Given the description of an element on the screen output the (x, y) to click on. 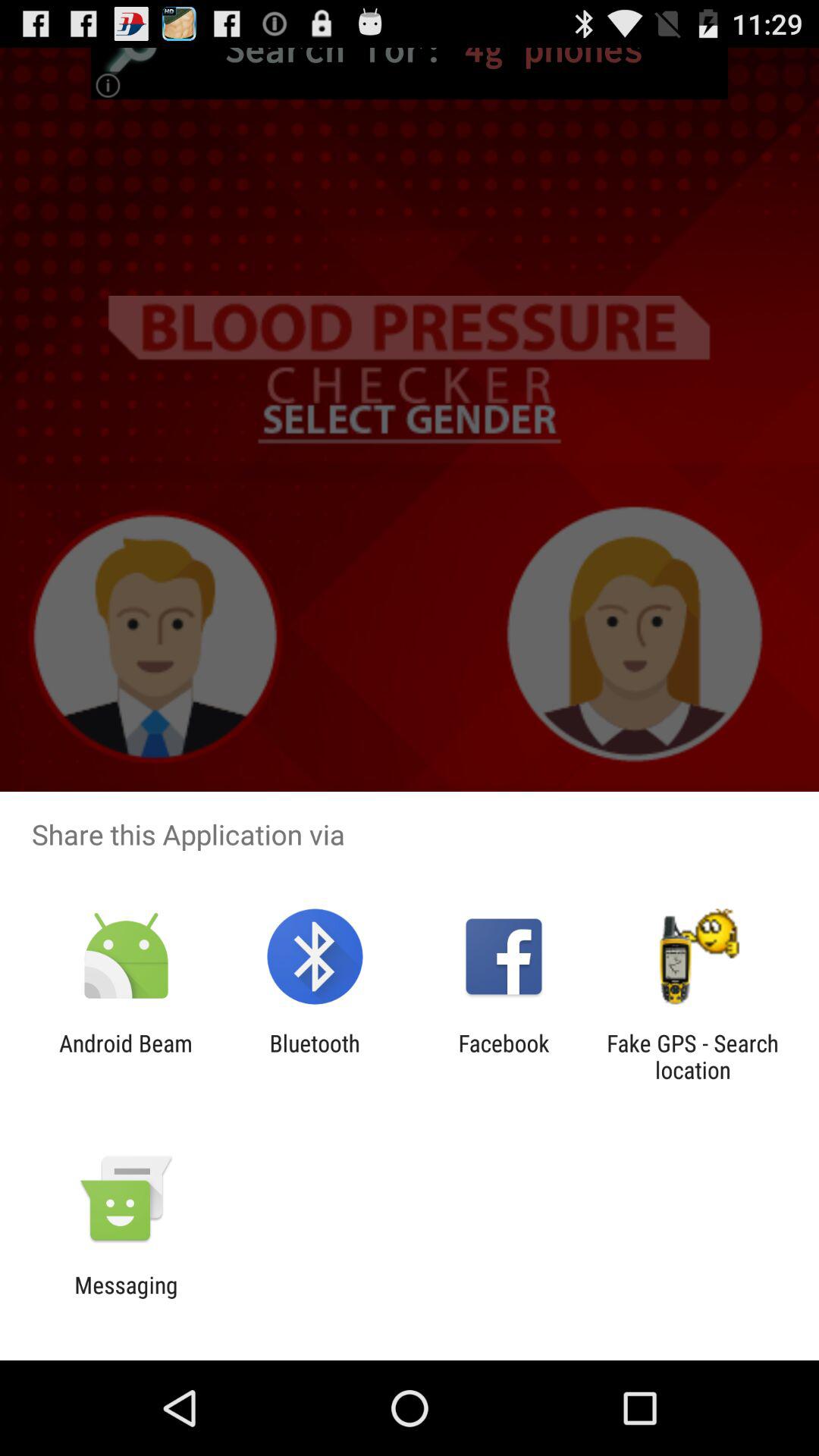
swipe until the messaging icon (126, 1298)
